Given the description of an element on the screen output the (x, y) to click on. 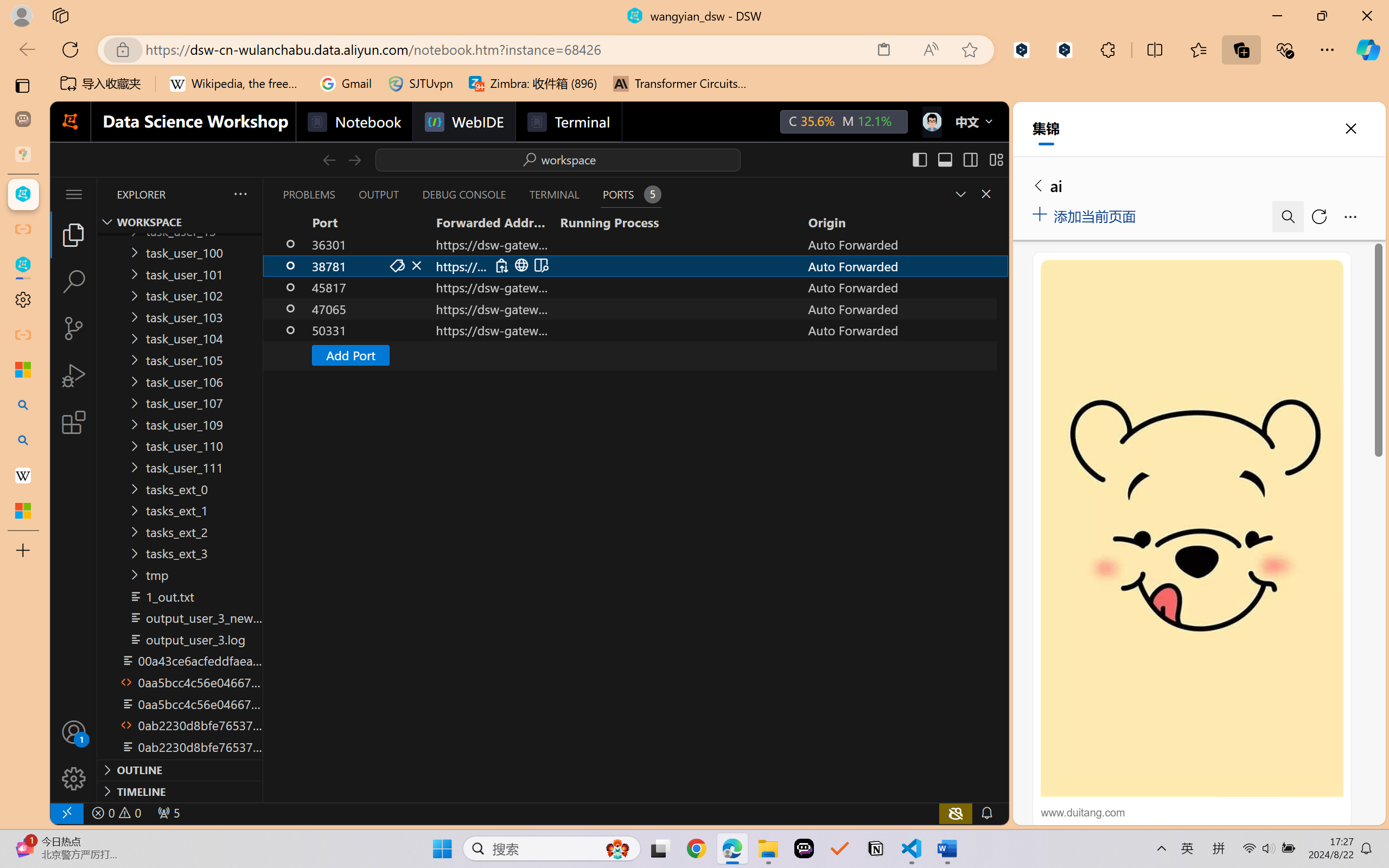
Notifications (986, 812)
Set Port Label (F2) (396, 265)
Preview in Editor (540, 265)
Earth - Wikipedia (22, 475)
Transformer Circuits Thread (680, 83)
Application Menu (73, 194)
Toggle Primary Side Bar (Ctrl+B) (919, 159)
Run and Debug (Ctrl+Shift+D) (73, 375)
Add Port (635, 355)
